Given the description of an element on the screen output the (x, y) to click on. 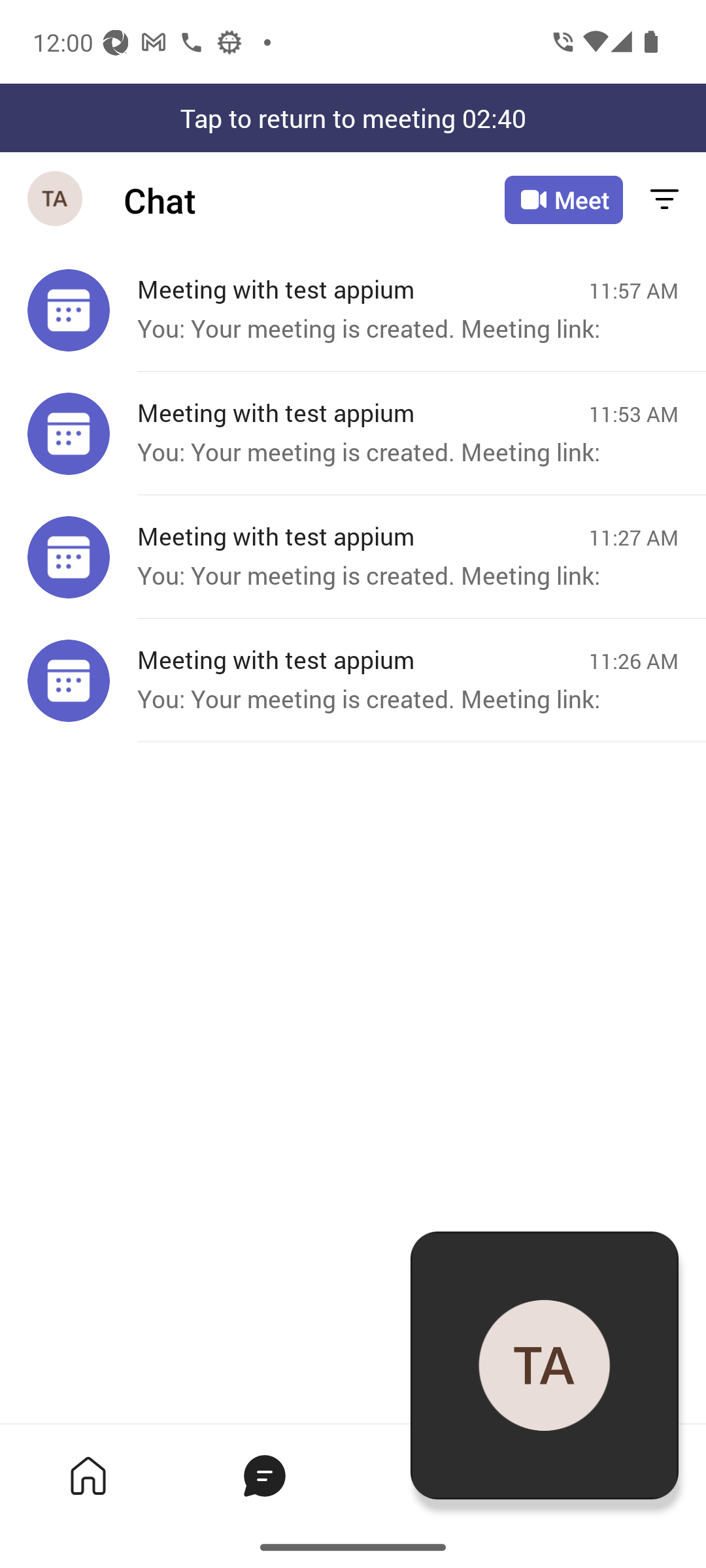
Tap to return to meeting 02:40 (353, 117)
Filter chat messages (664, 199)
Navigation (56, 199)
Meet Meet now or join with an ID (563, 199)
Home tab,1 of 4, not selected (88, 1475)
Chat tab, 2 of 4 (264, 1475)
